Given the description of an element on the screen output the (x, y) to click on. 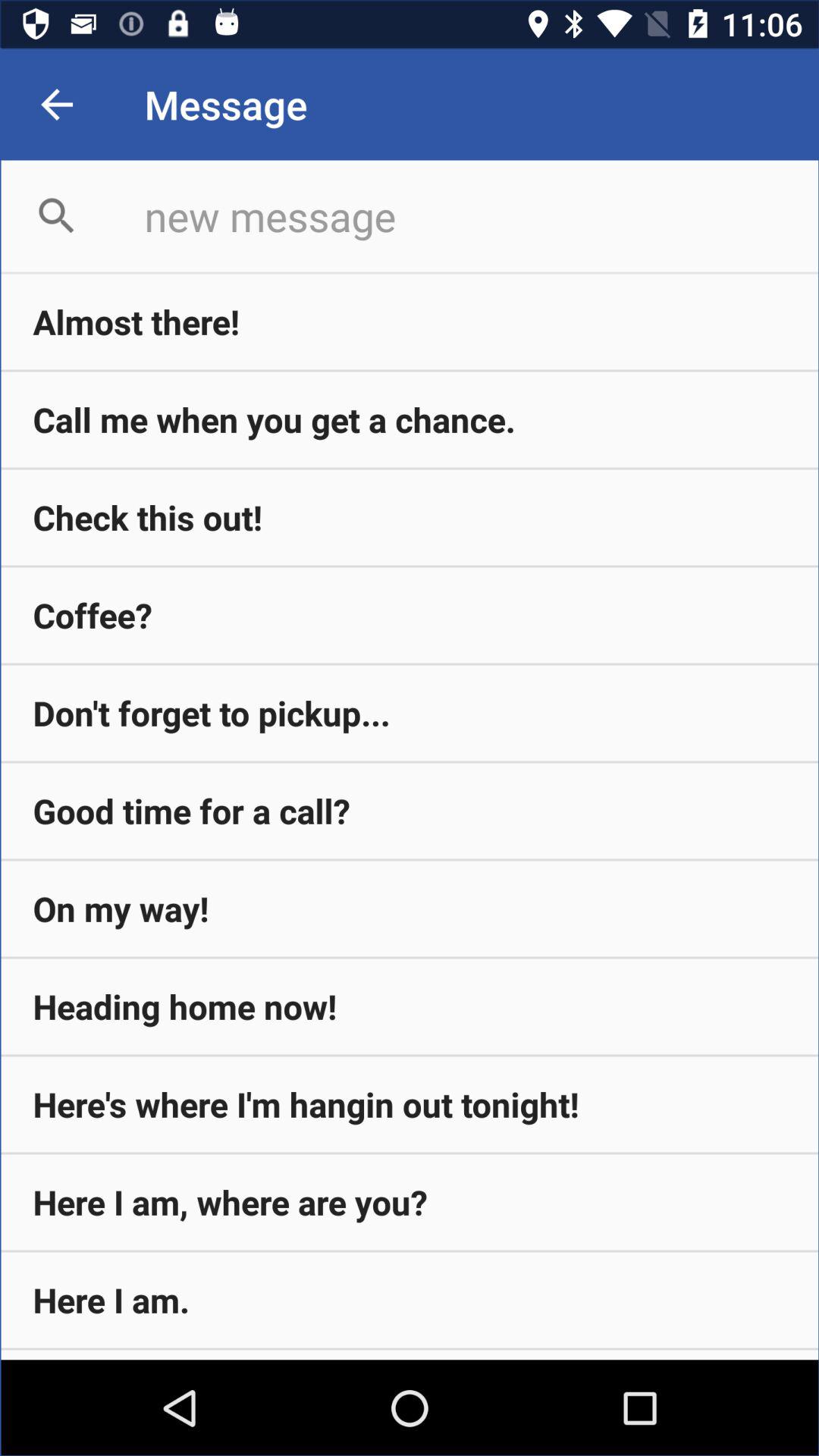
scroll until the coffee? icon (409, 615)
